Given the description of an element on the screen output the (x, y) to click on. 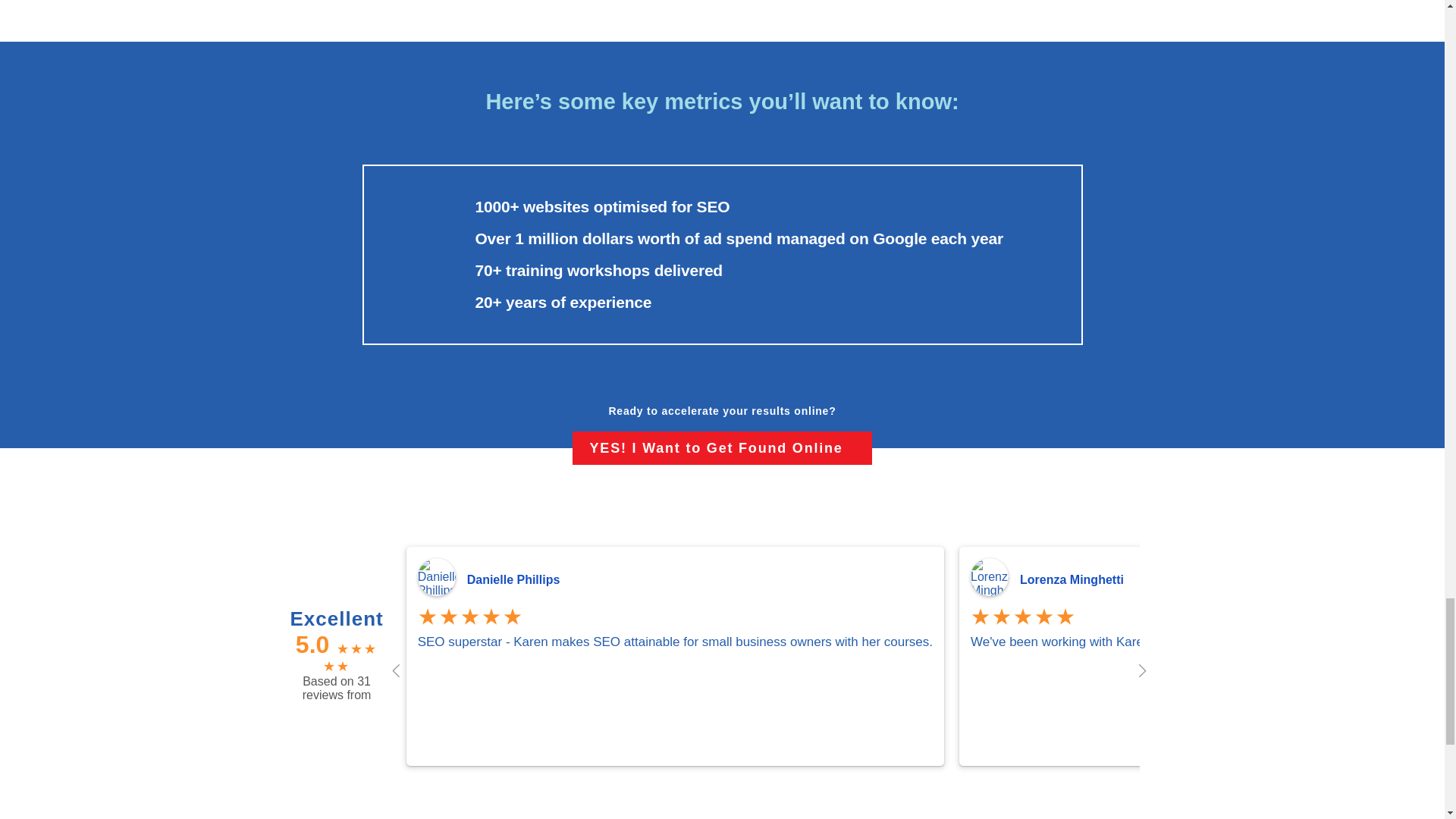
Lorenza Minghetti (1077, 579)
Danielle Phillips (700, 580)
Danielle Phillips (519, 579)
